Given the description of an element on the screen output the (x, y) to click on. 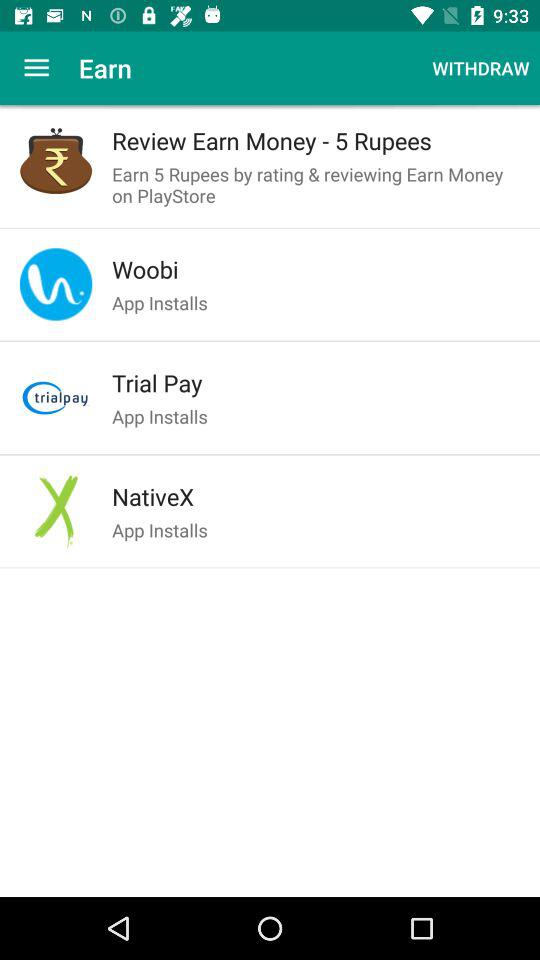
turn off icon to the right of earn item (480, 67)
